Given the description of an element on the screen output the (x, y) to click on. 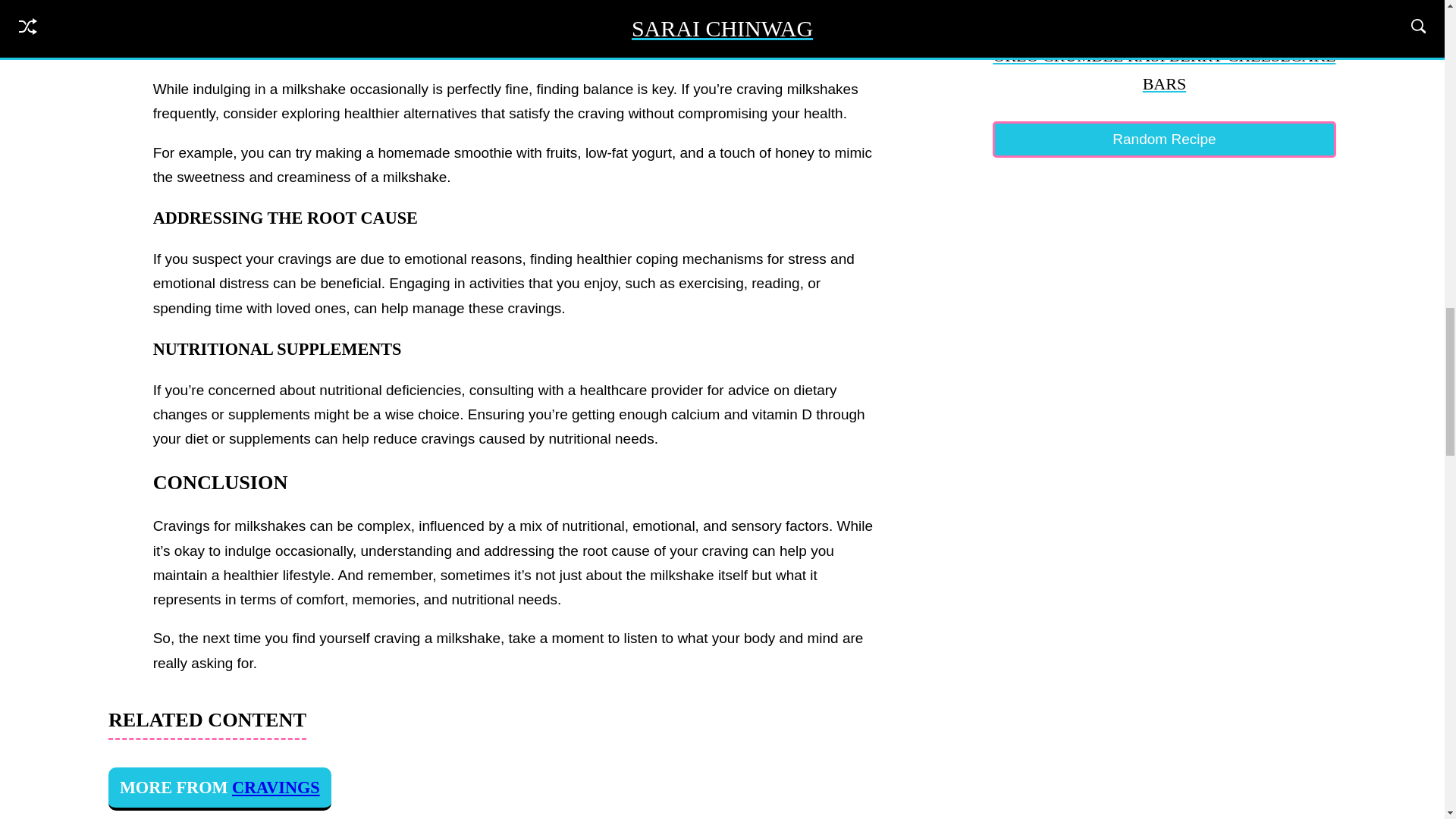
OREO CRUMBLE RASPBERRY CHEESECAKE BARS (1164, 49)
Random Recipe (1164, 139)
CRAVINGS (275, 787)
